Given the description of an element on the screen output the (x, y) to click on. 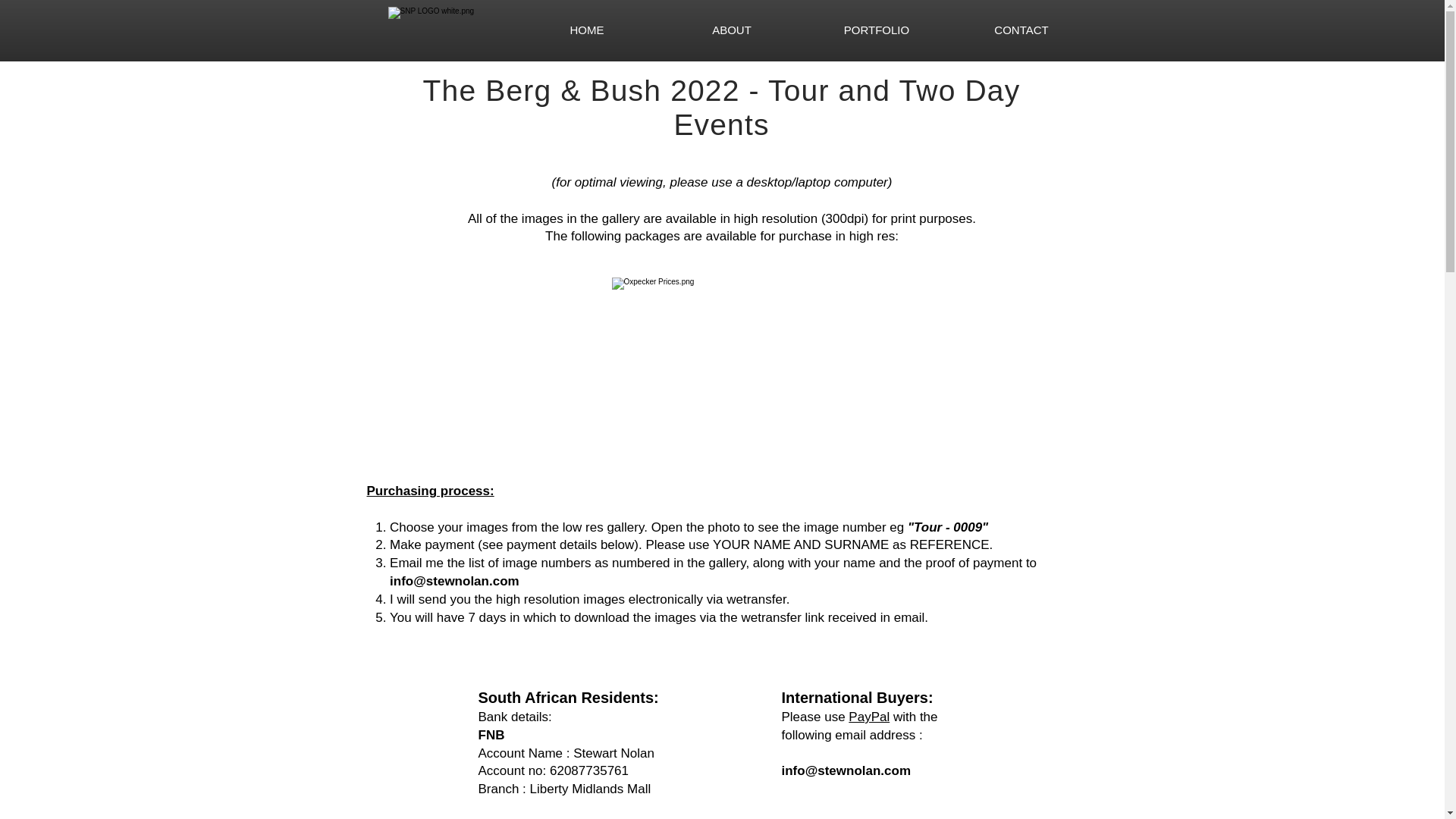
PORTFOLIO (876, 29)
CONTACT (1021, 29)
PayPal (868, 716)
HOME (586, 29)
ABOUT (732, 29)
